Given the description of an element on the screen output the (x, y) to click on. 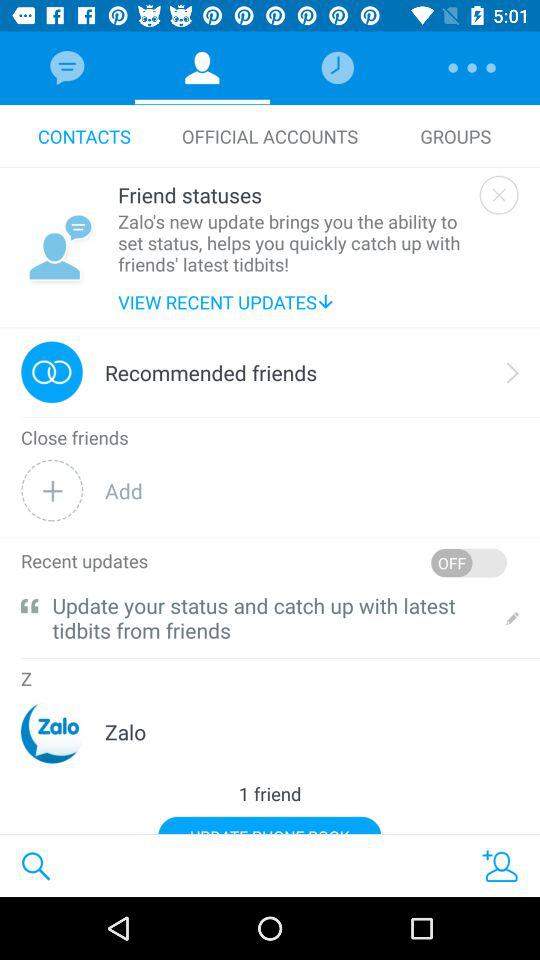
choose the icon below the view recent updates (270, 327)
